Given the description of an element on the screen output the (x, y) to click on. 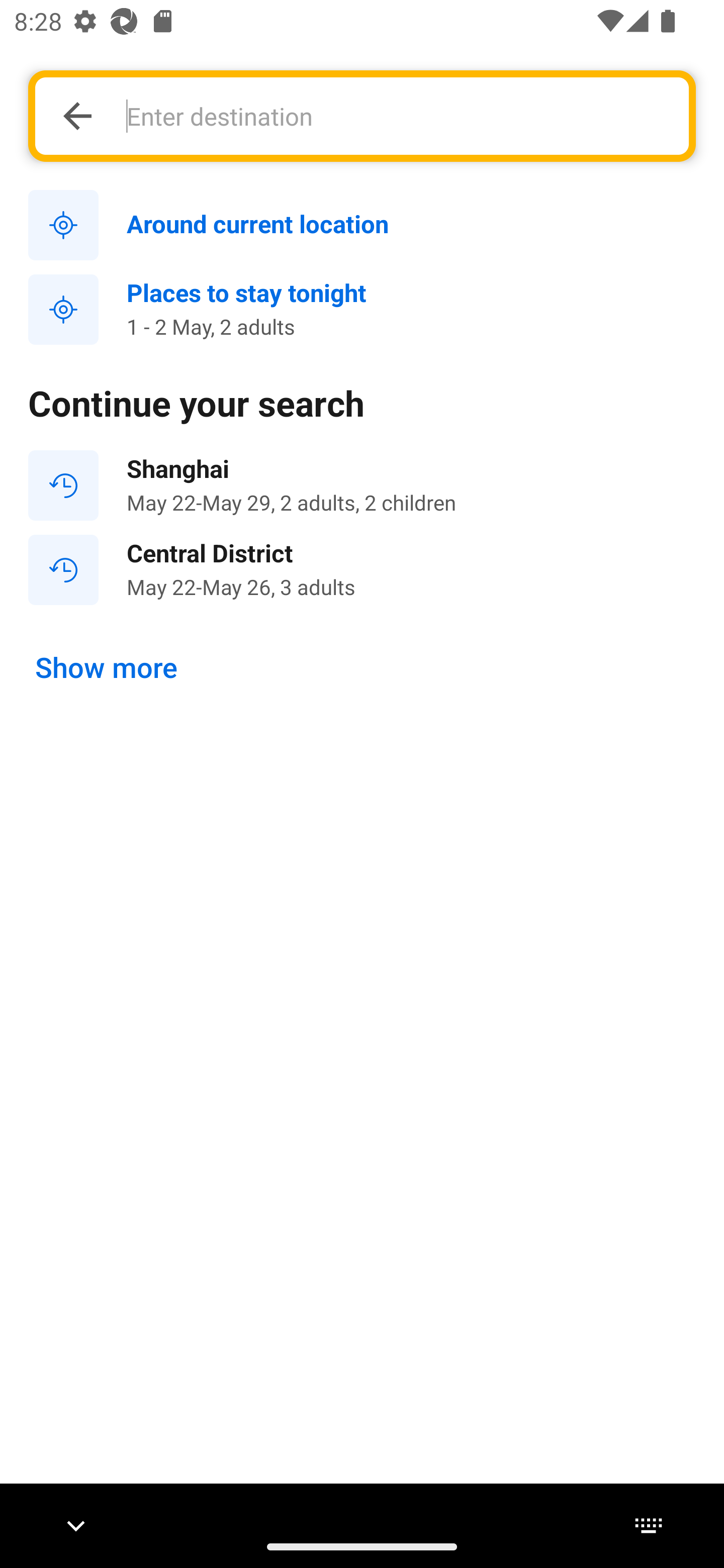
Enter destination (396, 115)
Around current location (362, 225)
Places to stay tonight 1 - 2 May, 2 adults (362, 309)
Shanghai May 22-May 29, 2 adults, 2 children (362, 485)
Central District May 22-May 26, 3 adults  (362, 569)
Show more (106, 667)
